Given the description of an element on the screen output the (x, y) to click on. 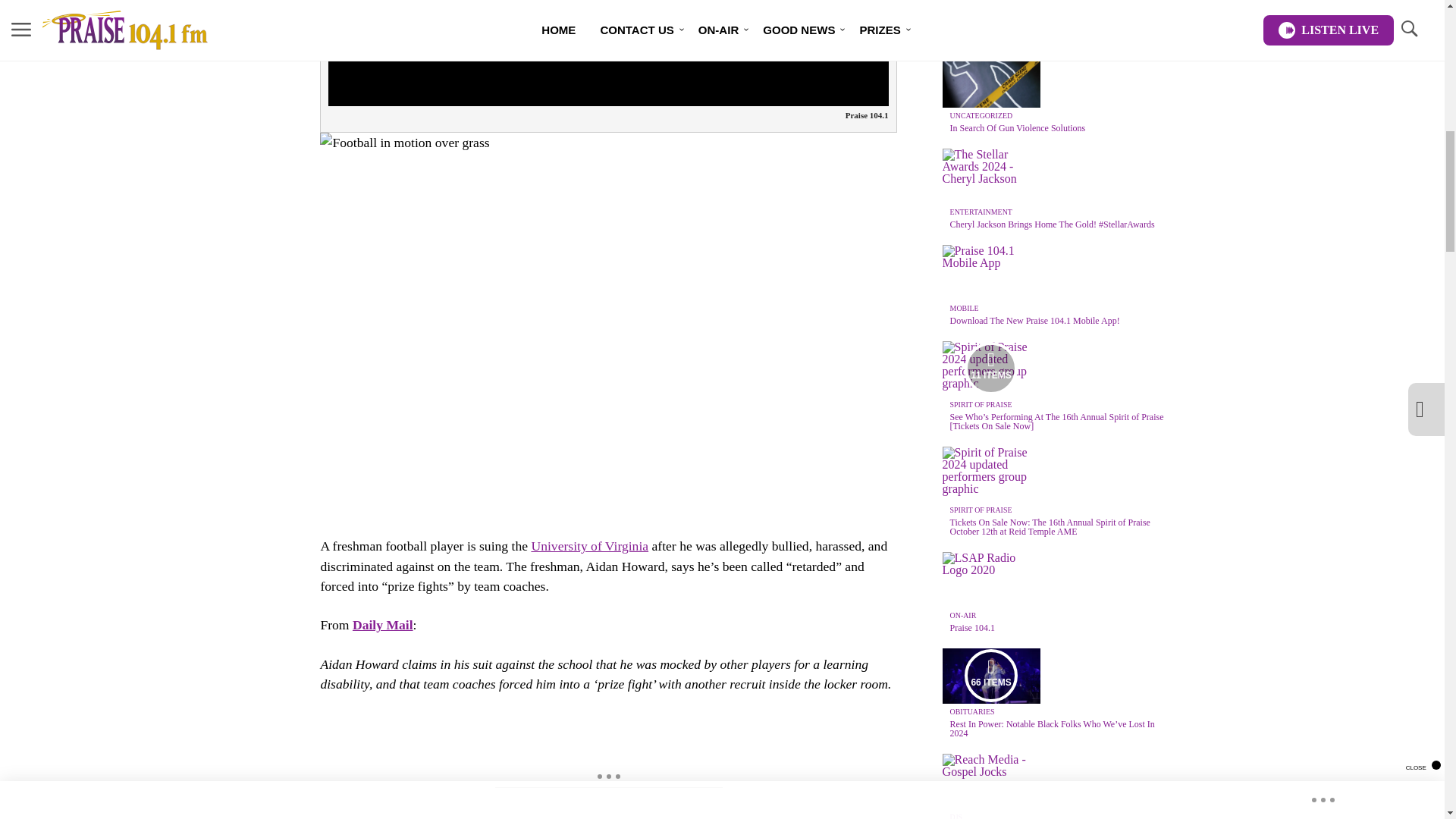
Media Playlist (990, 368)
Media Playlist (990, 675)
University of Virginia (589, 545)
Daily Mail (382, 624)
